Given the description of an element on the screen output the (x, y) to click on. 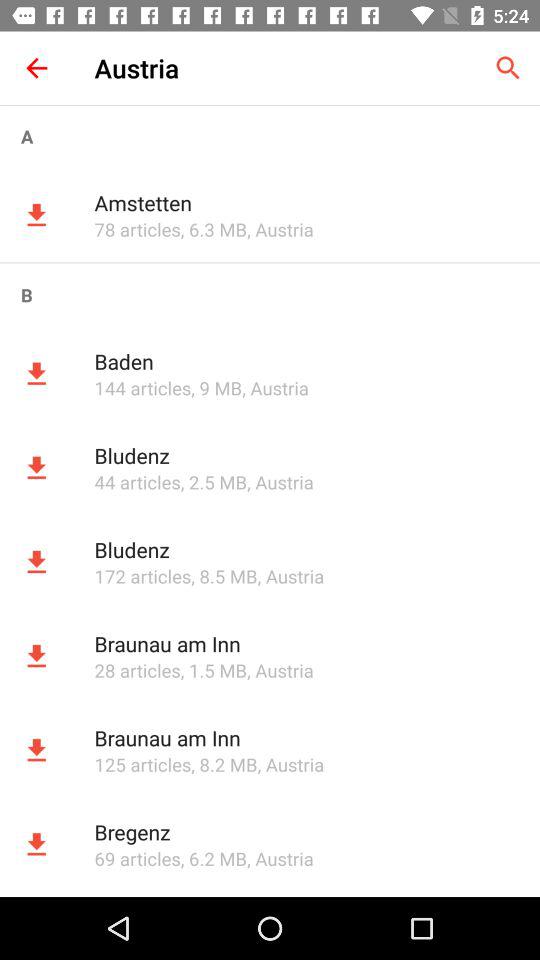
open icon to the left of the , 9 mb item (142, 387)
